Given the description of an element on the screen output the (x, y) to click on. 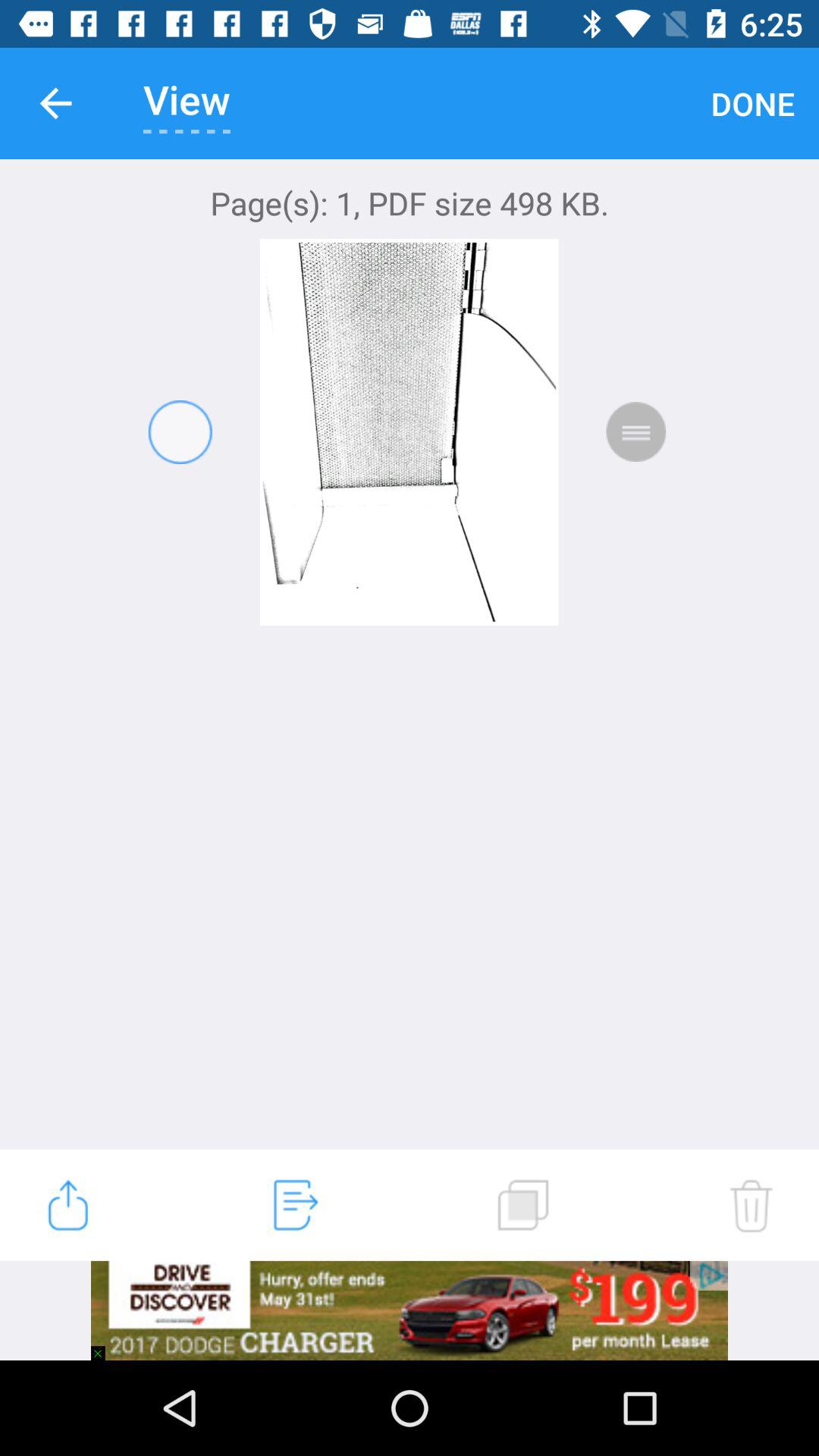
turn off the icon below the page s 1 item (67, 1204)
